Given the description of an element on the screen output the (x, y) to click on. 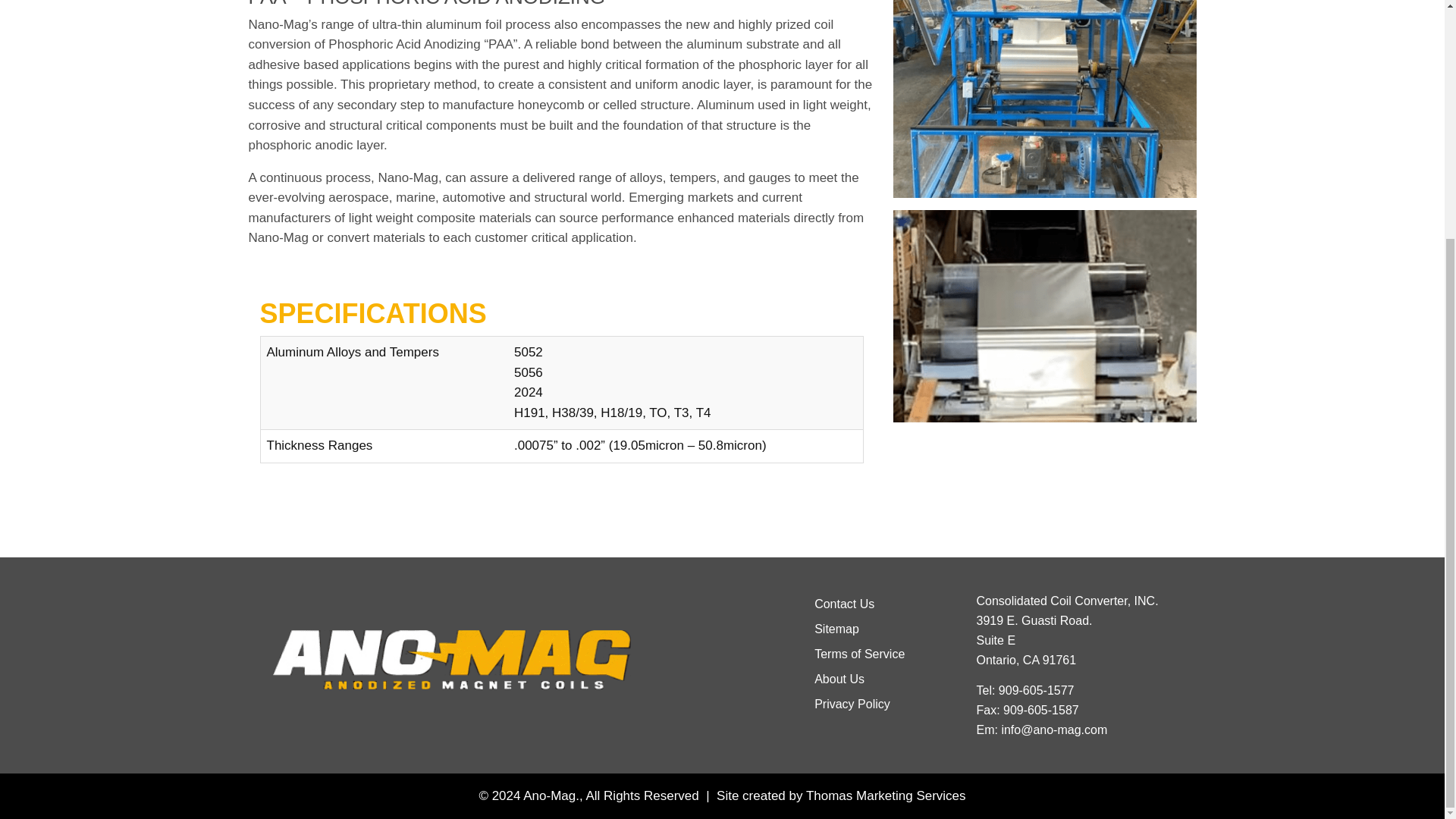
Terms of Service (858, 653)
Privacy Policy (851, 703)
Contact Us (844, 603)
Sitemap (836, 628)
About Us (838, 678)
